Given the description of an element on the screen output the (x, y) to click on. 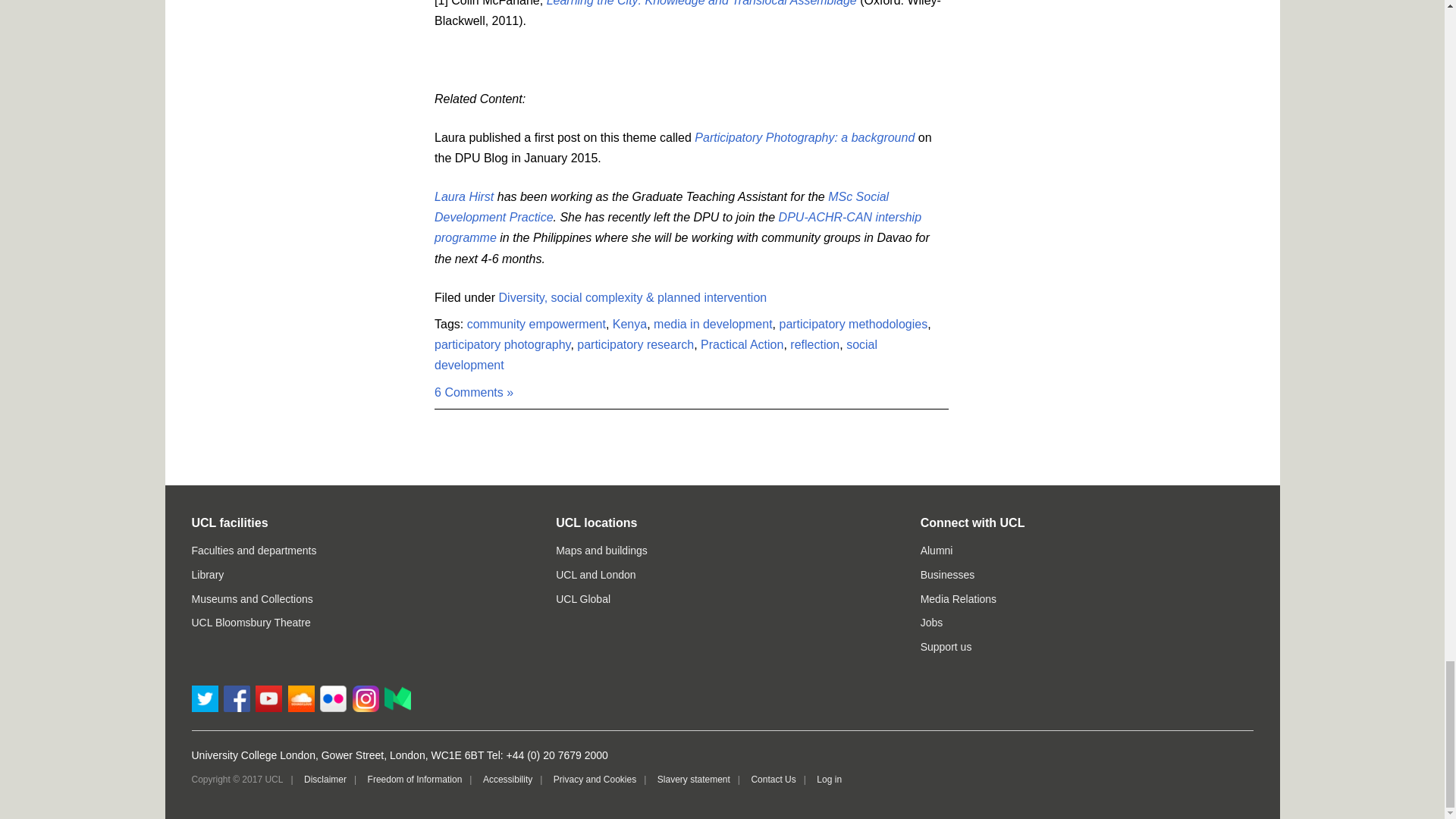
DPU-ACHR-CAN Junior Professional internship programme launch (677, 227)
Email Laura (463, 196)
MSc Social Development Practice at the DPU (660, 206)
